Given the description of an element on the screen output the (x, y) to click on. 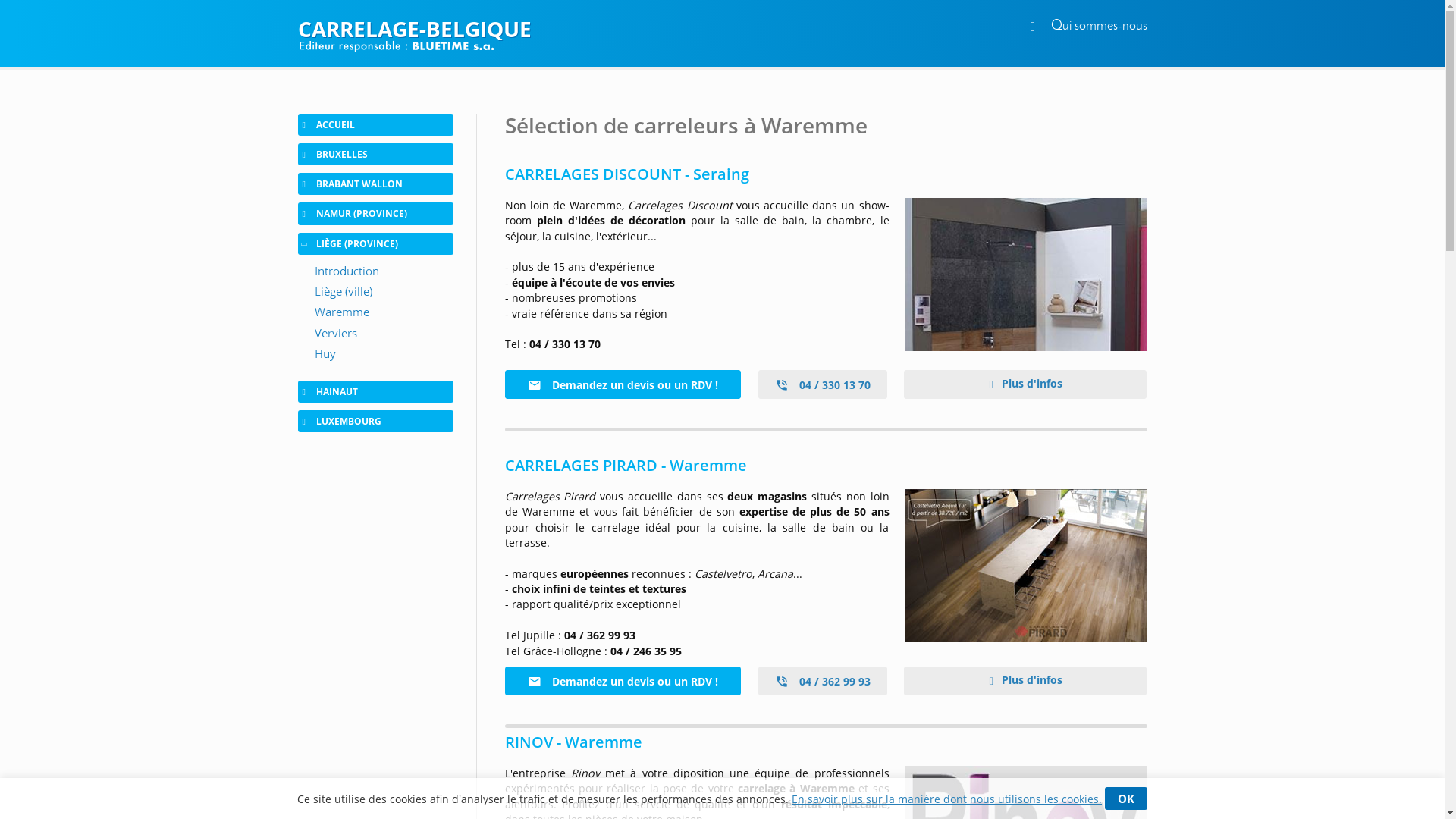
Visitez leur site Element type: hover (1024, 565)
Plus d'infos Element type: text (1024, 680)
Plus d'infos Element type: text (1024, 384)
04 / 362 99 93 Element type: text (822, 680)
Qui sommes-nous Element type: text (1099, 25)
Demandez un devis ou un RDV ! Element type: text (622, 680)
CARRELAGE-BELGIQUE Element type: text (721, 28)
04 / 330 13 70 Element type: text (822, 384)
Plus de renseignements sur leur site ! Element type: hover (1024, 274)
Demandez un devis ou un RDV ! Element type: text (622, 384)
